Given the description of an element on the screen output the (x, y) to click on. 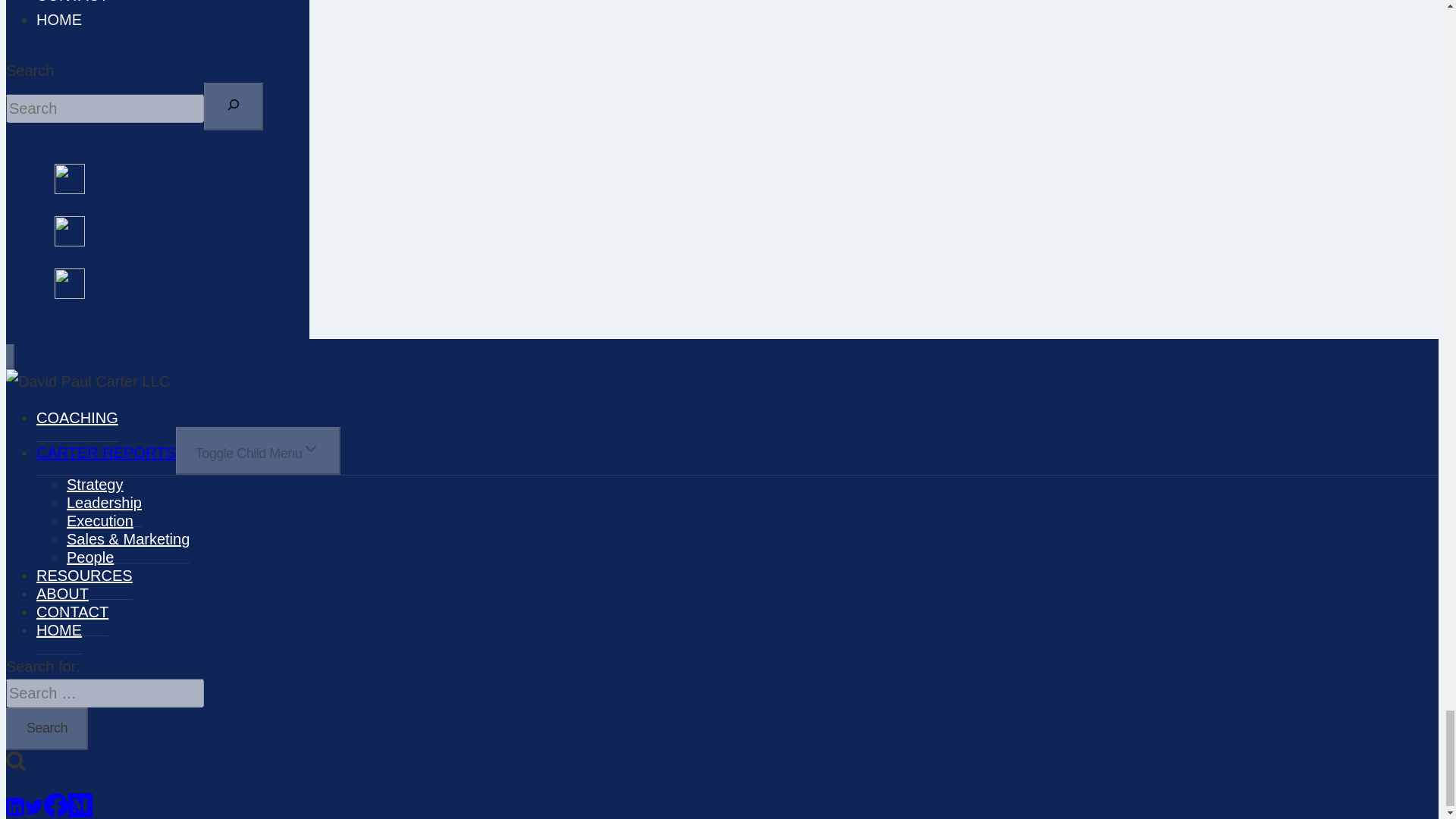
Expand (310, 448)
Search (46, 728)
Search (46, 728)
